Given the description of an element on the screen output the (x, y) to click on. 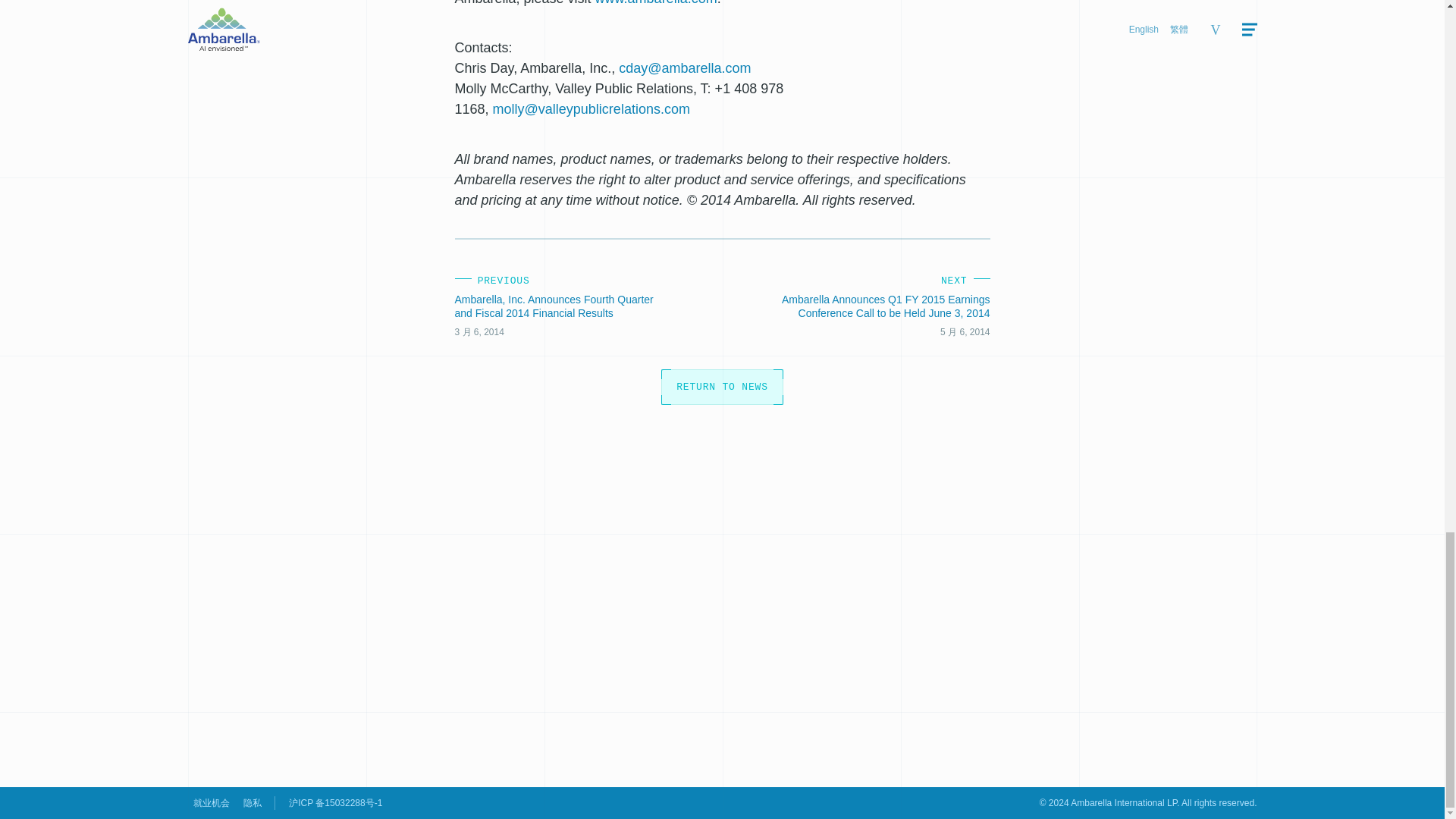
www.ambarella.com (656, 2)
